Given the description of an element on the screen output the (x, y) to click on. 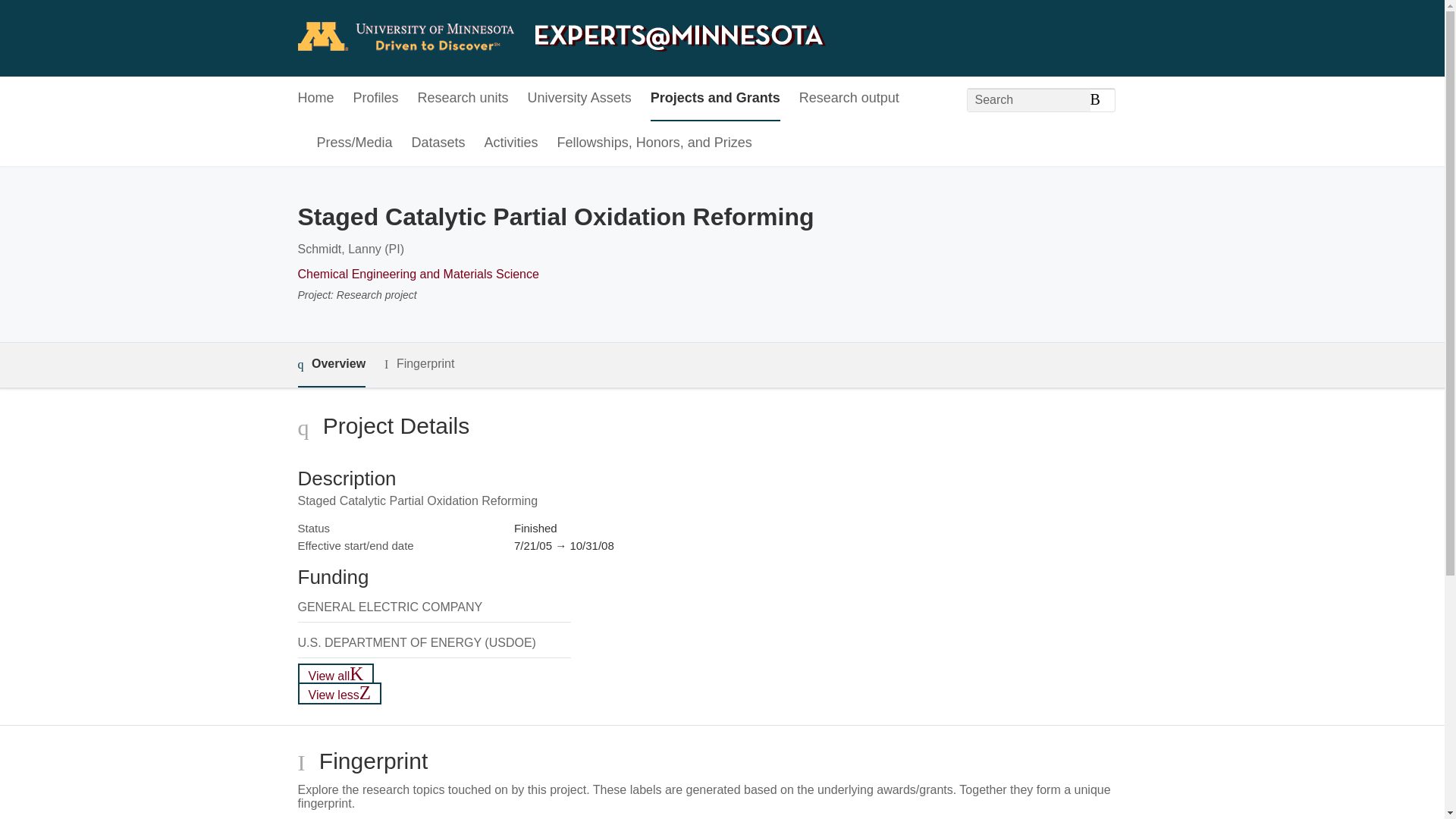
Activities (511, 143)
Profiles (375, 98)
Projects and Grants (715, 98)
View all (335, 674)
Research output (849, 98)
Research units (462, 98)
Overview (331, 365)
University Assets (579, 98)
Fingerprint (419, 364)
View less (339, 693)
Datasets (438, 143)
Fellowships, Honors, and Prizes (654, 143)
Chemical Engineering and Materials Science (417, 273)
